Given the description of an element on the screen output the (x, y) to click on. 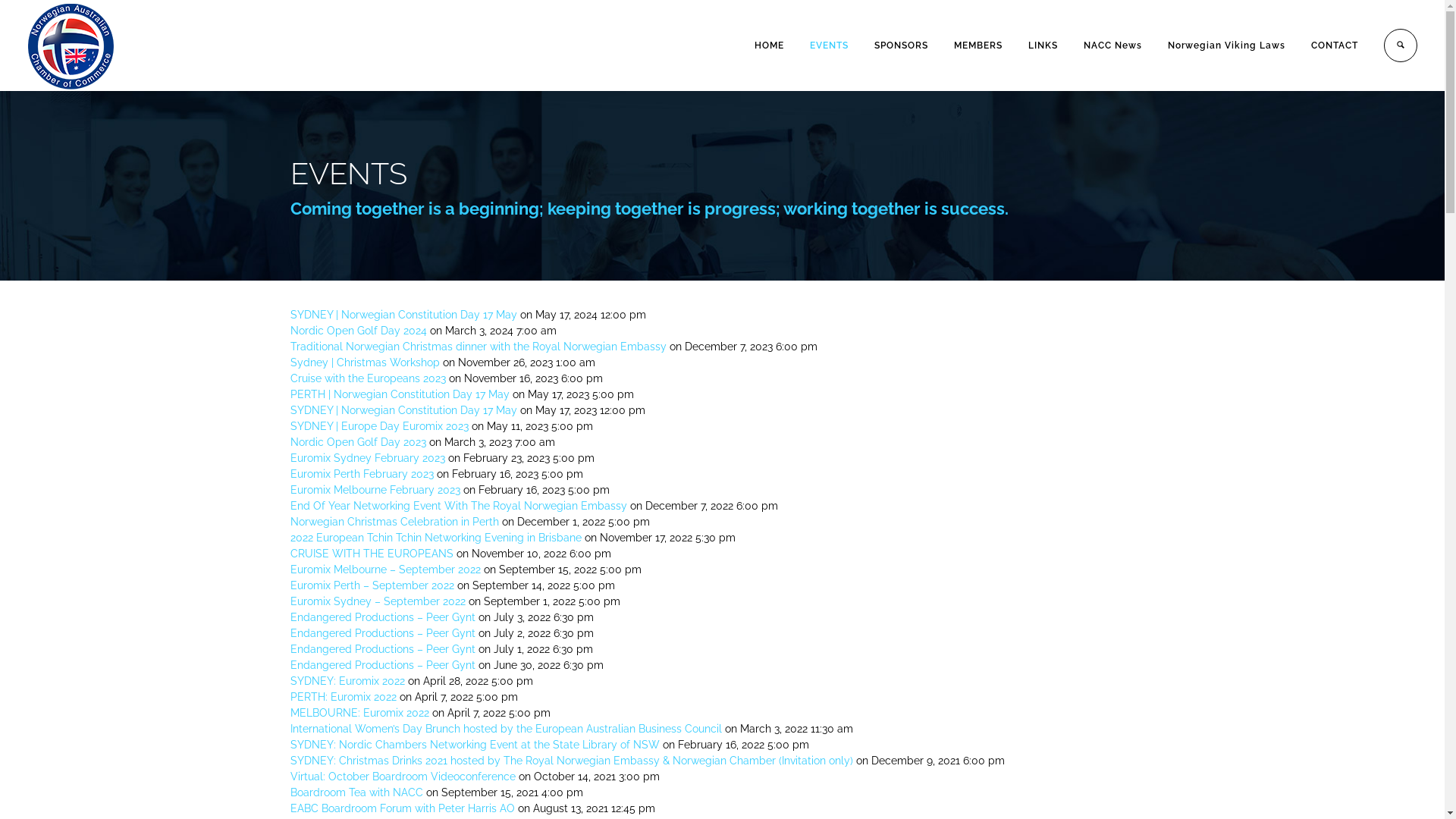
Nordic Open Golf Day 2024 Element type: text (357, 330)
MELBOURNE: Euromix 2022 Element type: text (358, 712)
PERTH | Norwegian Constitution Day 17 May Element type: text (398, 394)
Euromix Sydney February 2023 Element type: text (366, 457)
CONTACT Element type: text (1334, 45)
Sydney | Christmas Workshop Element type: text (364, 362)
NACC News Element type: text (1112, 45)
EABC Boardroom Forum with Peter Harris AO Element type: text (401, 808)
CRUISE WITH THE EUROPEANS Element type: text (370, 553)
Virtual: October Boardroom Videoconference Element type: text (401, 776)
MEMBERS Element type: text (978, 45)
Boardroom Tea with NACC Element type: text (355, 792)
SYDNEY: Euromix 2022 Element type: text (346, 680)
Cruise with the Europeans 2023 Element type: text (367, 378)
2022 European Tchin Tchin Networking Evening in Brisbane Element type: text (434, 537)
Nordic Open Golf Day 2023 Element type: text (357, 442)
EVENTS Element type: text (829, 45)
SYDNEY | Norwegian Constitution Day 17 May Element type: text (402, 314)
HOME Element type: text (769, 45)
SPONSORS Element type: text (901, 45)
SYDNEY | Europe Day Euromix 2023 Element type: text (378, 426)
Euromix Melbourne February 2023 Element type: text (374, 489)
  Element type: text (1394, 45)
LINKS Element type: text (1042, 45)
Euromix Perth February 2023 Element type: text (361, 473)
SYDNEY | Norwegian Constitution Day 17 May Element type: text (402, 410)
Norwegian Viking Laws Element type: text (1226, 45)
Norwegian Christmas Celebration in Perth Element type: text (393, 521)
PERTH: Euromix 2022 Element type: text (342, 696)
